Given the description of an element on the screen output the (x, y) to click on. 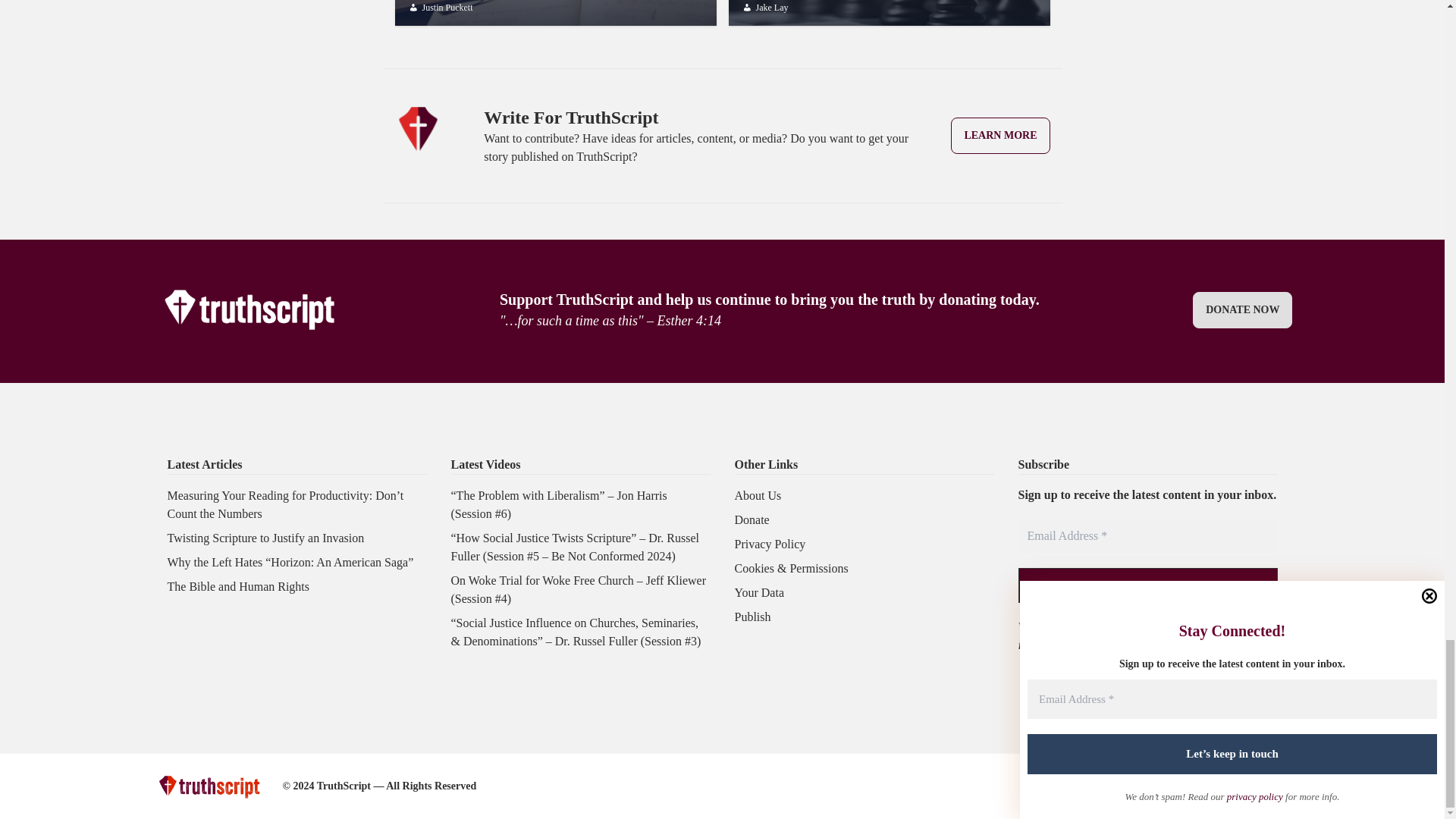
SUBSCRIBE! (1146, 585)
Your Data (758, 592)
Privacy Policy (769, 543)
LEARN MORE (999, 135)
SUBSCRIBE! (1146, 585)
Twisting Scripture to Justify an Invasion (265, 537)
Donate (750, 519)
About Us (888, 12)
privacy policy (756, 495)
Publish (1177, 626)
The Bible and Human Rights (751, 616)
Email Address (237, 585)
DONATE NOW (1146, 535)
